Given the description of an element on the screen output the (x, y) to click on. 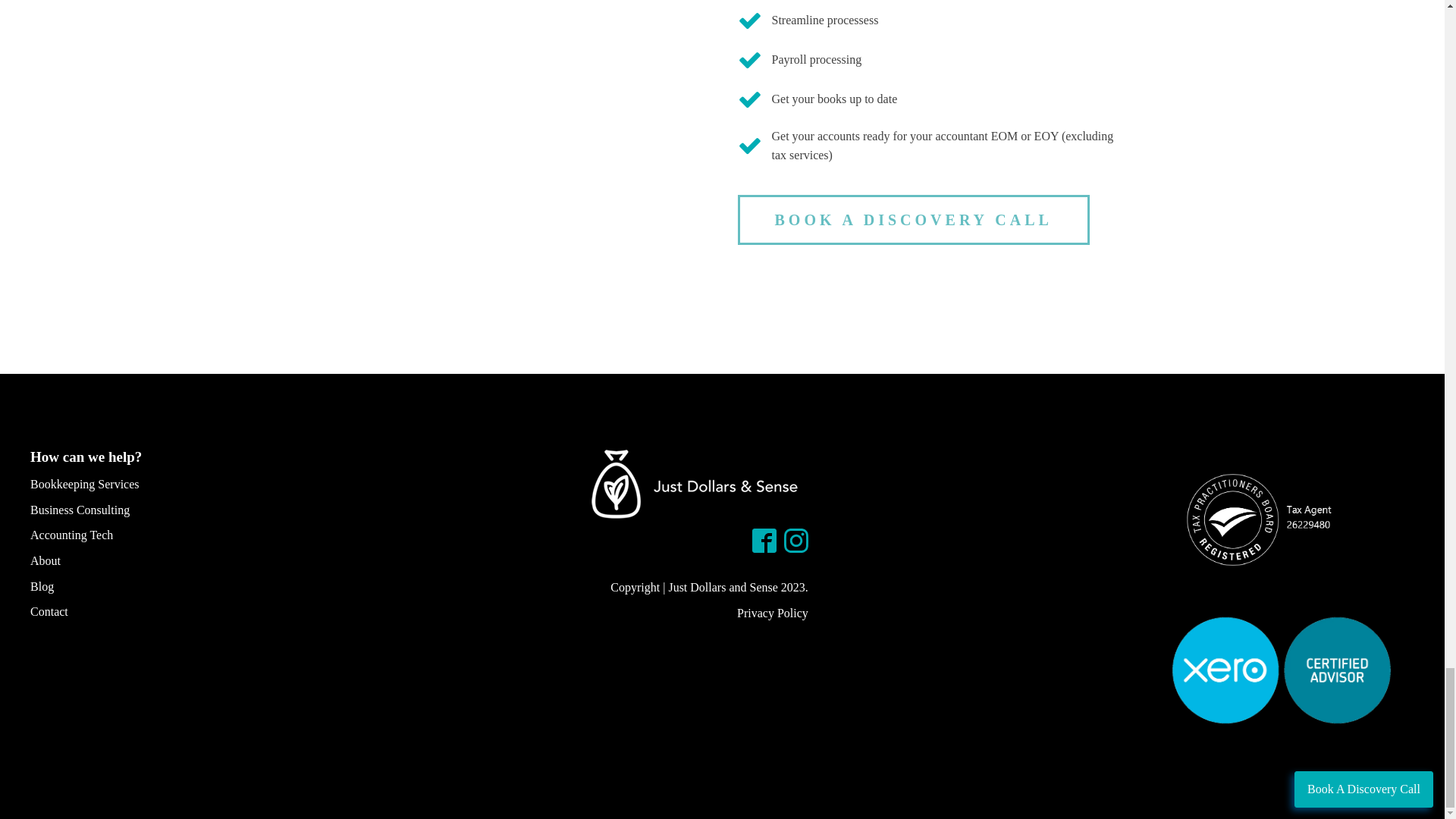
BOOK A DISCOVERY CALL (912, 219)
Bookkeeping Services (84, 481)
Privacy Policy (772, 613)
Contact (84, 608)
Business Consulting (84, 507)
About (84, 557)
Blog (84, 583)
Accounting Tech (84, 532)
